Given the description of an element on the screen output the (x, y) to click on. 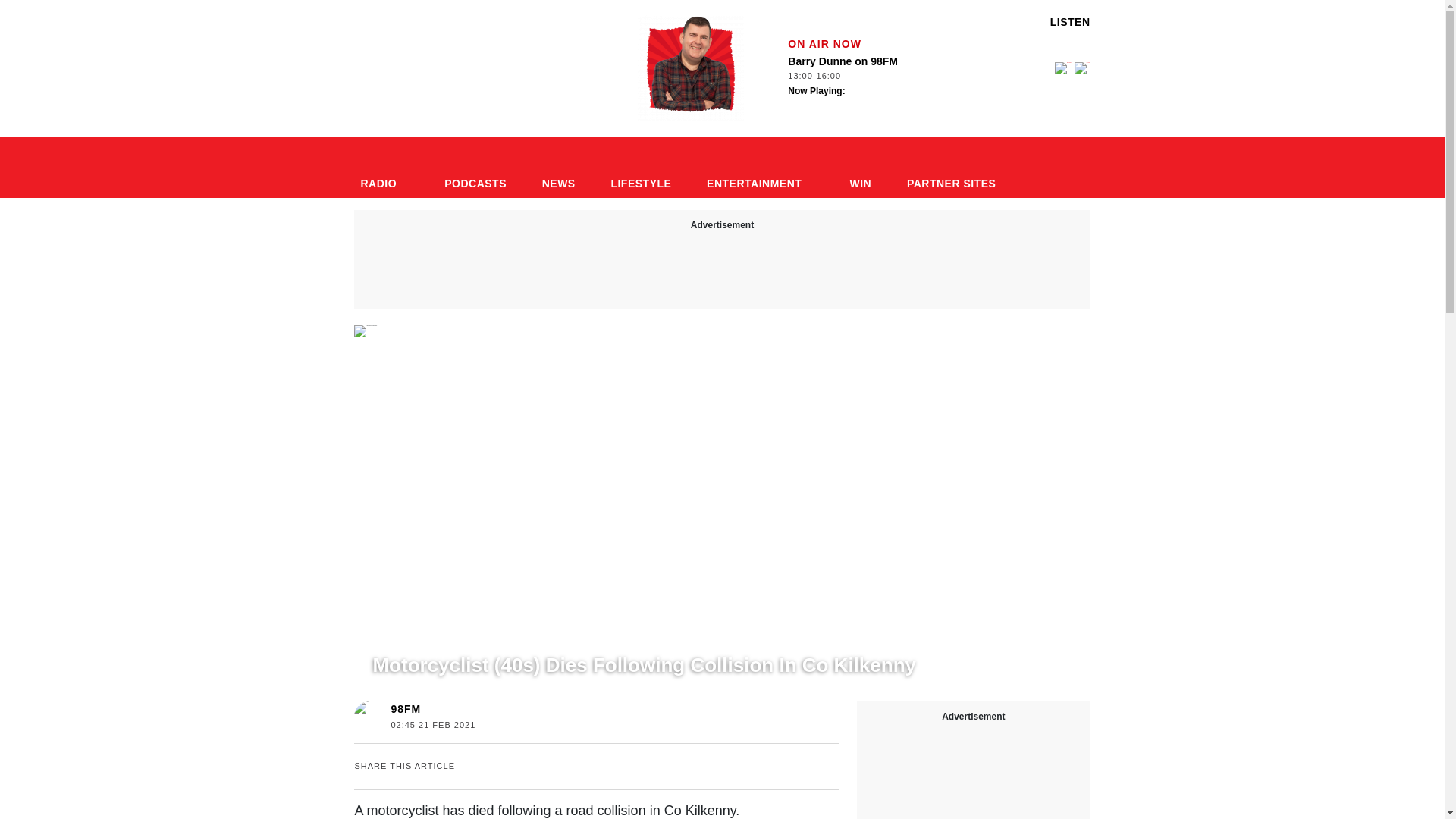
Barry Dunne on 98FM (860, 76)
PODCASTS (690, 68)
LIFESTYLE (475, 167)
RADIO (640, 167)
Podcasts (383, 167)
NEWS (475, 167)
ENTERTAINMENT (429, 635)
98FM (760, 167)
Lifestyle (405, 708)
